Given the description of an element on the screen output the (x, y) to click on. 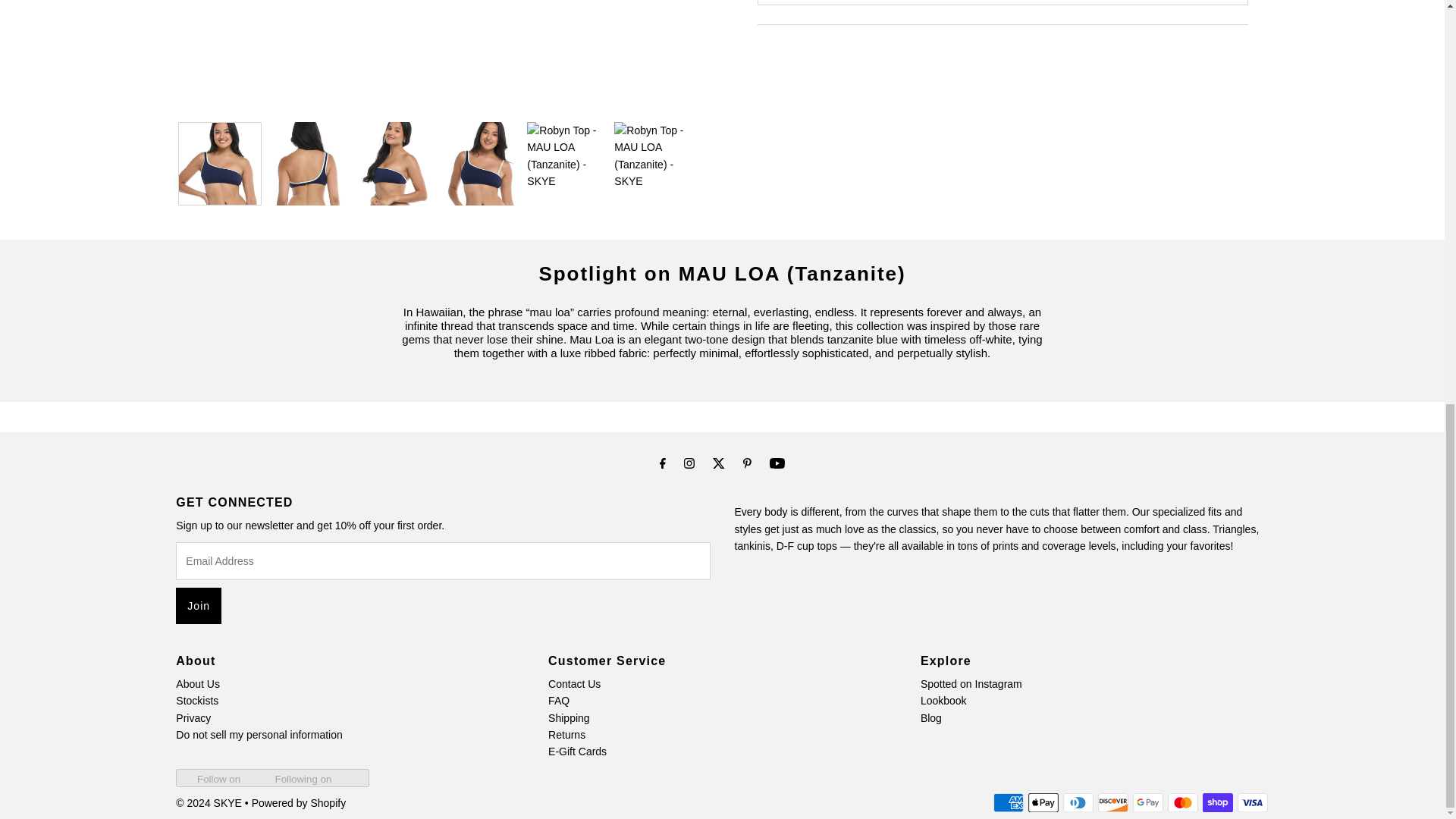
American Express (1007, 802)
Apple Pay (1042, 802)
Diners Club (1077, 802)
Youtube (777, 463)
Join (198, 606)
Discover (1112, 802)
